Given the description of an element on the screen output the (x, y) to click on. 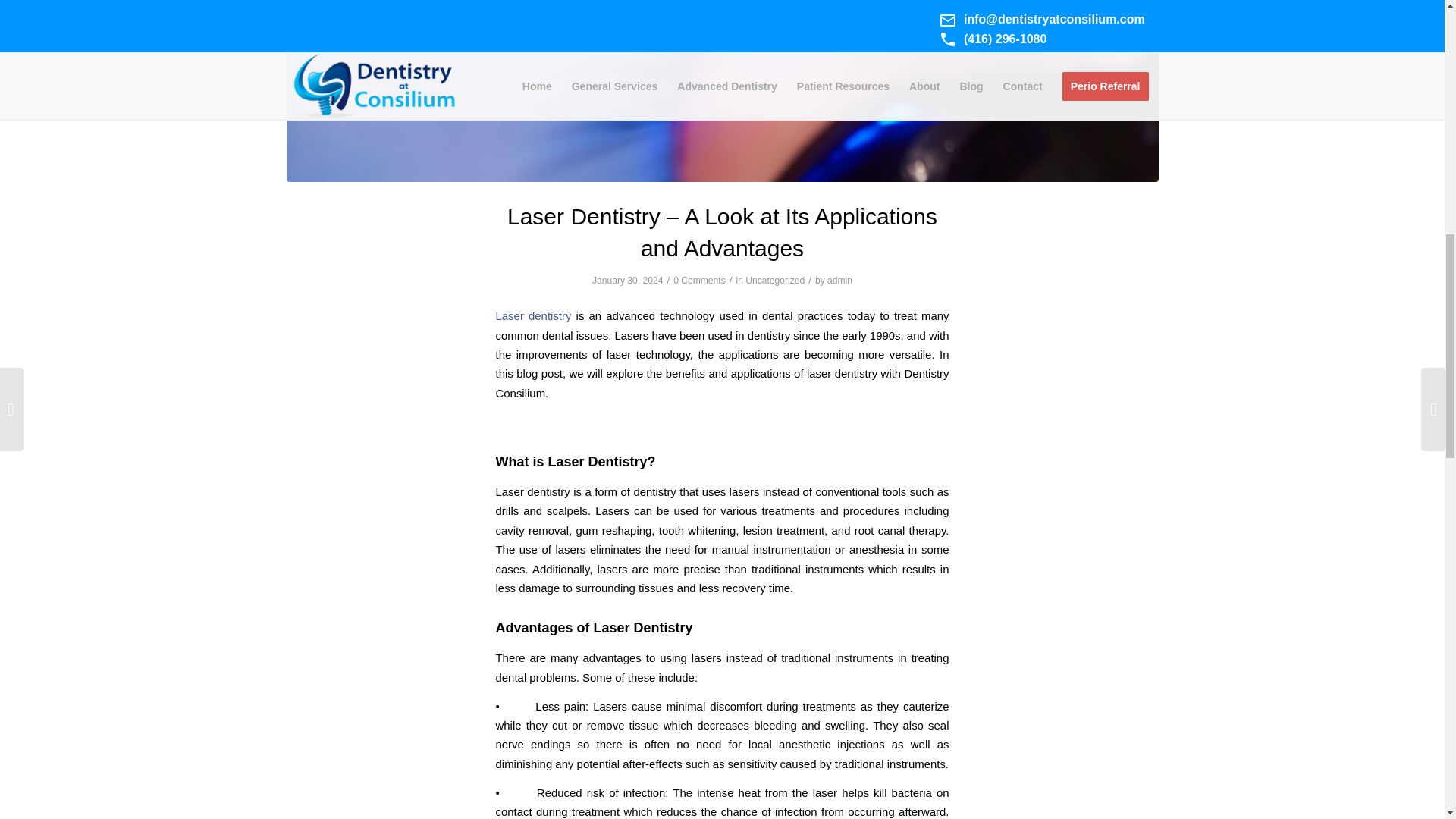
Posts by admin (839, 280)
